Given the description of an element on the screen output the (x, y) to click on. 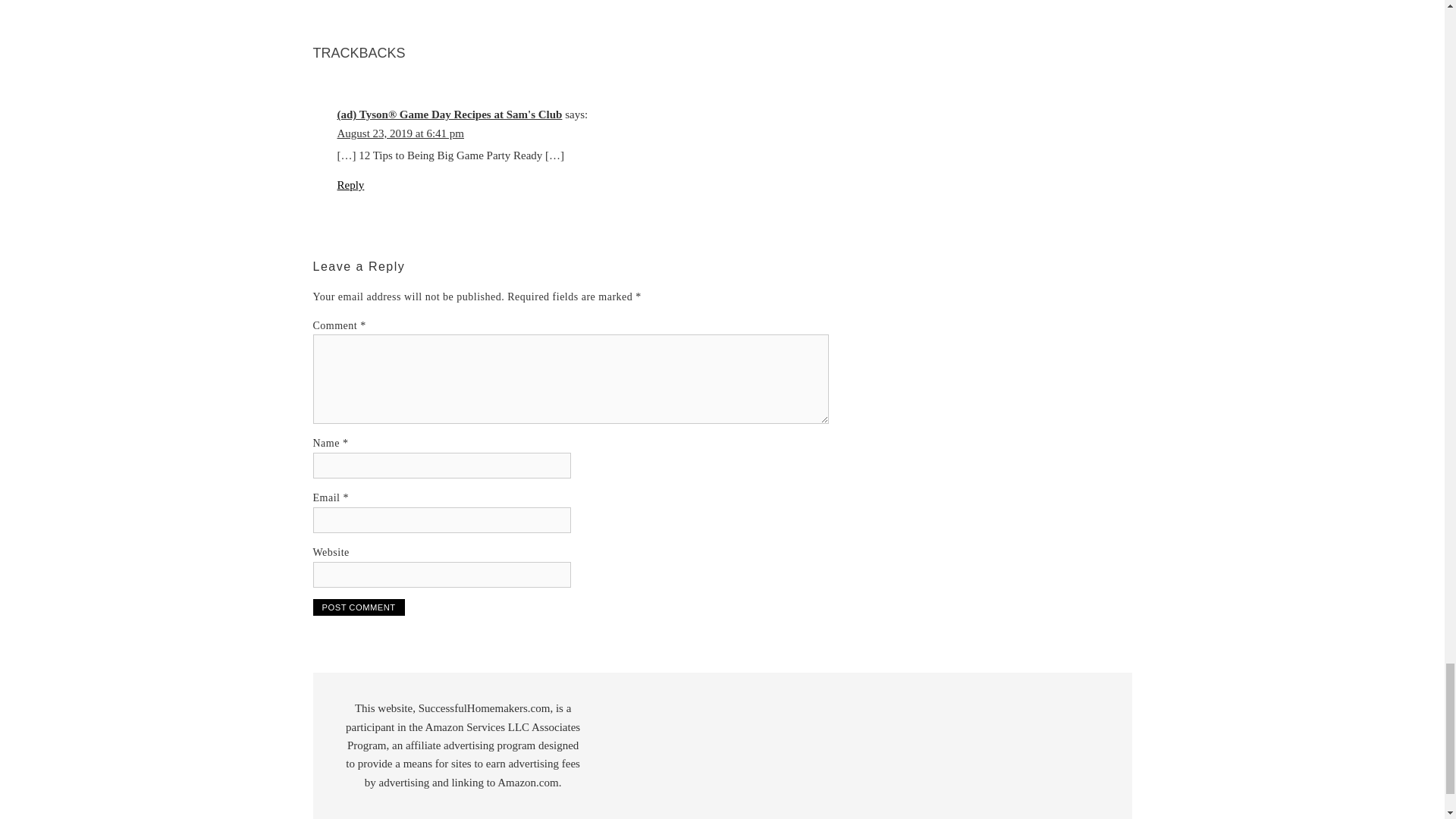
Post Comment (358, 606)
